Given the description of an element on the screen output the (x, y) to click on. 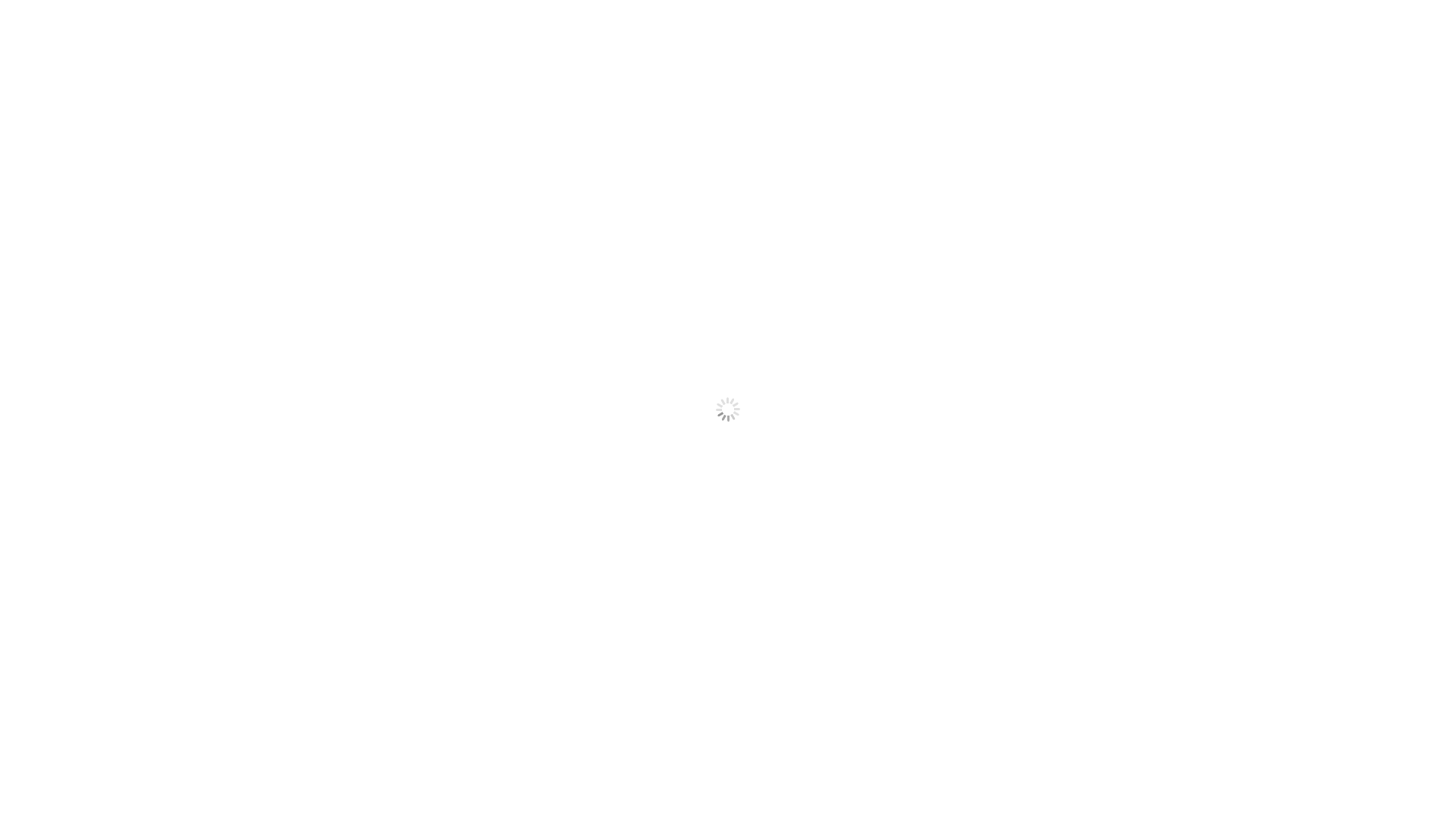
Marketing Element type: text (500, 45)
Innovation Element type: text (638, 45)
Contact Element type: text (1066, 45)
Team Element type: text (960, 45)
SEND MESSAGE Element type: text (752, 564)
Entrepreneurship Element type: text (809, 45)
Home Element type: text (381, 45)
